Given the description of an element on the screen output the (x, y) to click on. 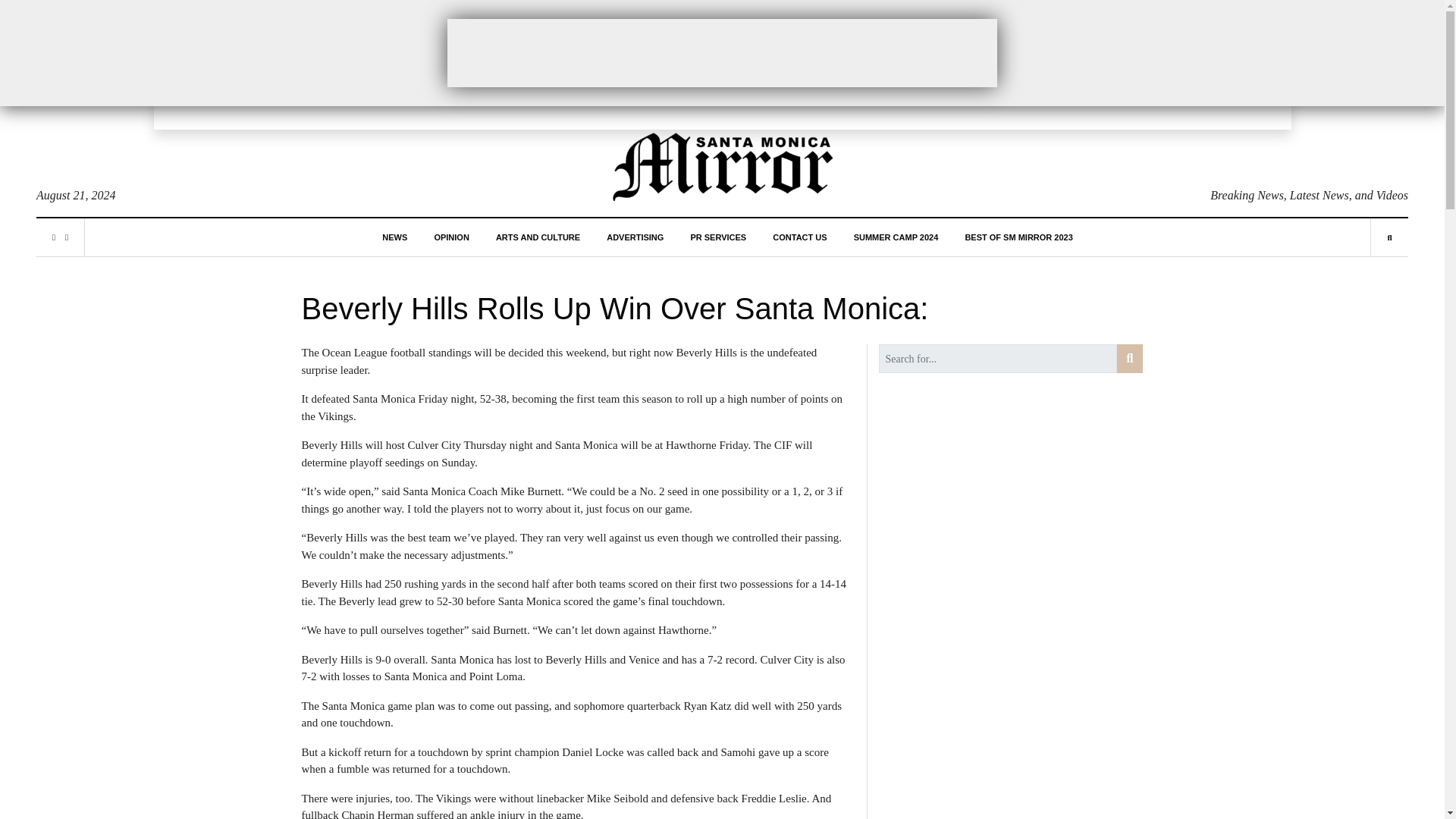
ARTS AND CULTURE (537, 237)
CONTACT US (800, 237)
OPINION (450, 237)
PR SERVICES (717, 237)
SUMMER CAMP 2024 (896, 237)
ADVERTISING (635, 237)
BEST OF SM MIRROR 2023 (1017, 237)
3rd party ad content (721, 52)
